Given the description of an element on the screen output the (x, y) to click on. 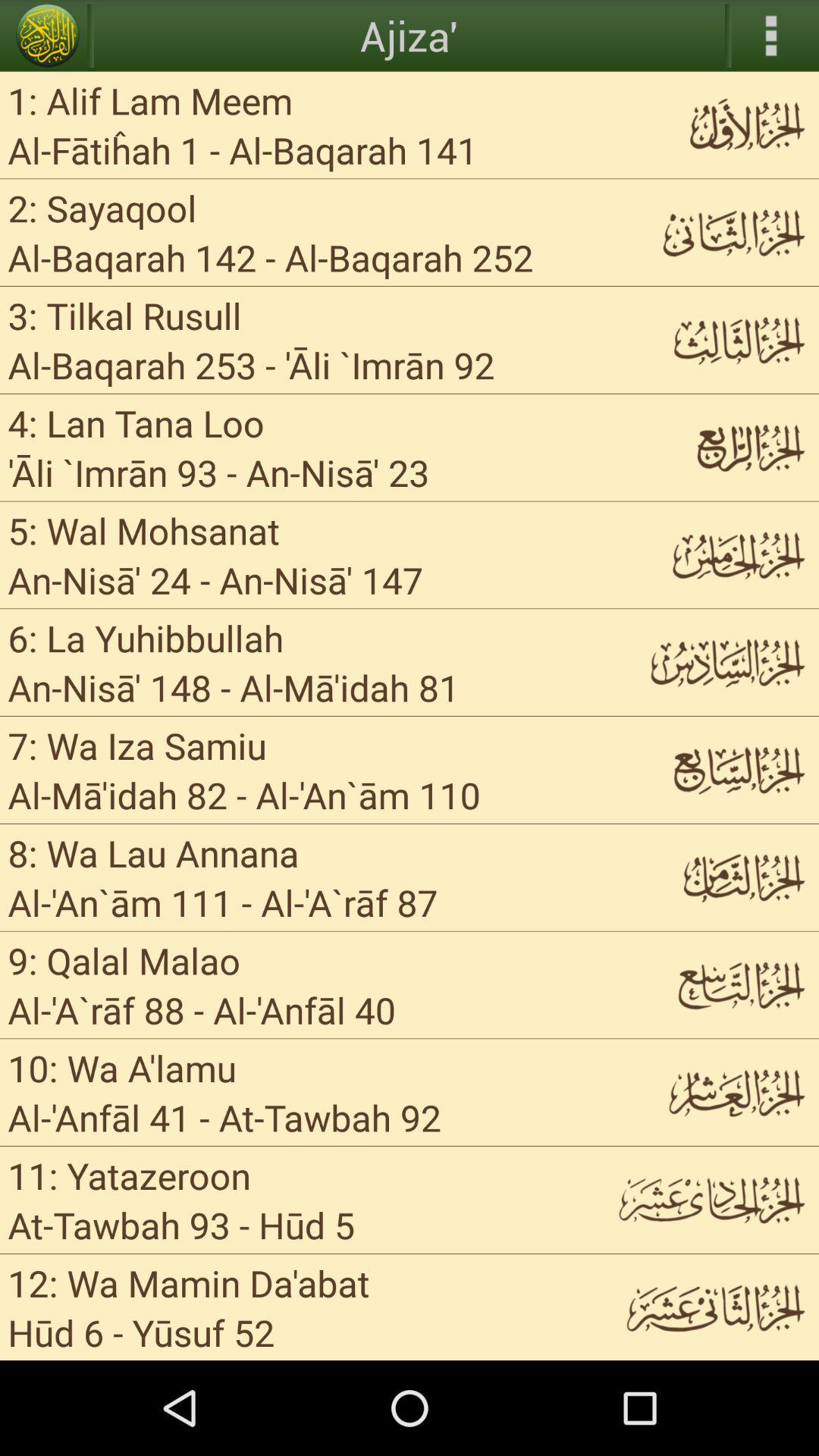
turn off the 2: sayaqool (101, 207)
